Given the description of an element on the screen output the (x, y) to click on. 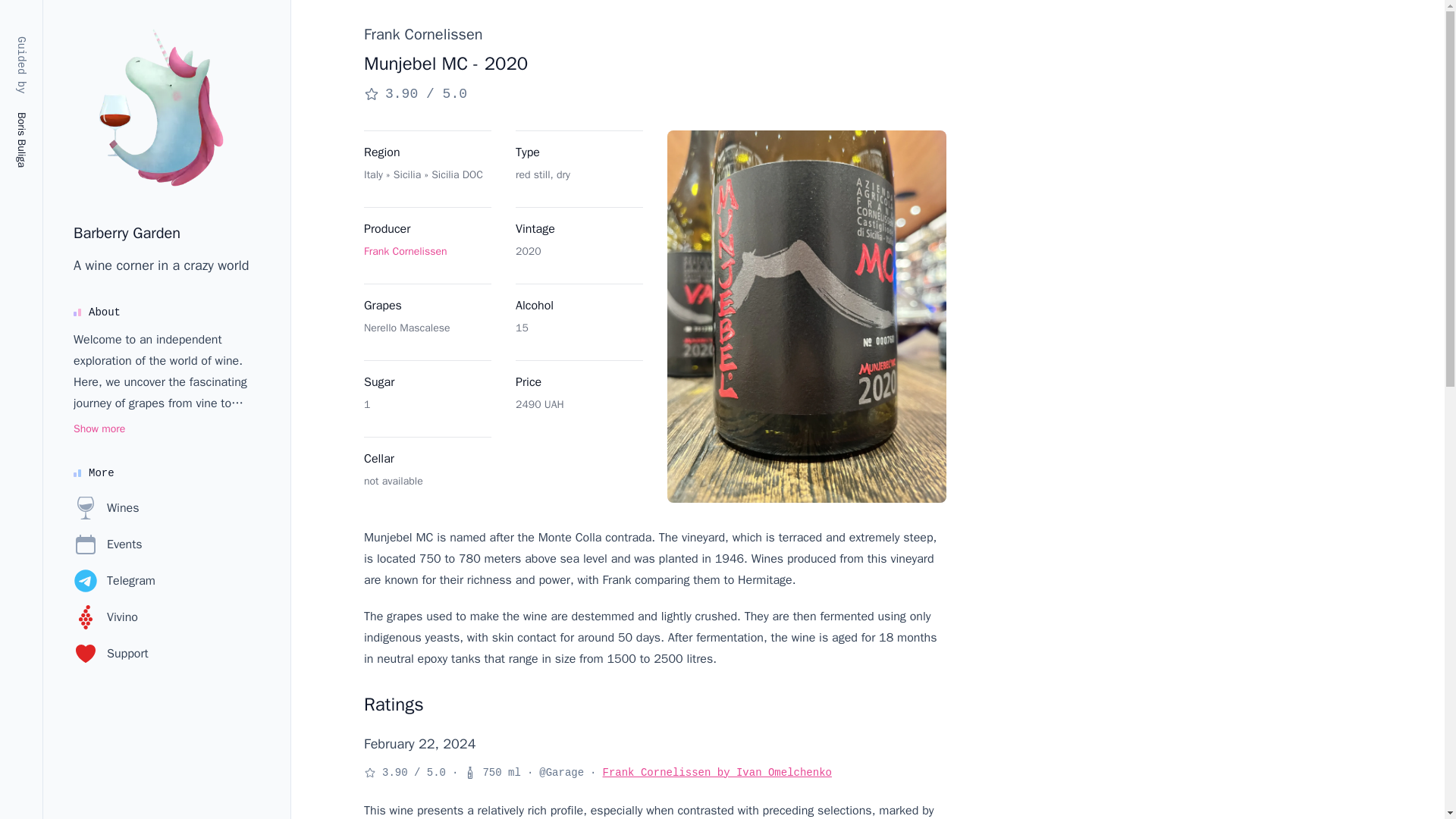
Frank Cornelissen by Ivan Omelchenko (716, 772)
Support (111, 653)
Frank Cornelissen (405, 250)
Events (108, 544)
Telegram (114, 580)
Wines (106, 508)
Vivino (106, 617)
Barberry Garden (127, 232)
Show more (99, 429)
